Given the description of an element on the screen output the (x, y) to click on. 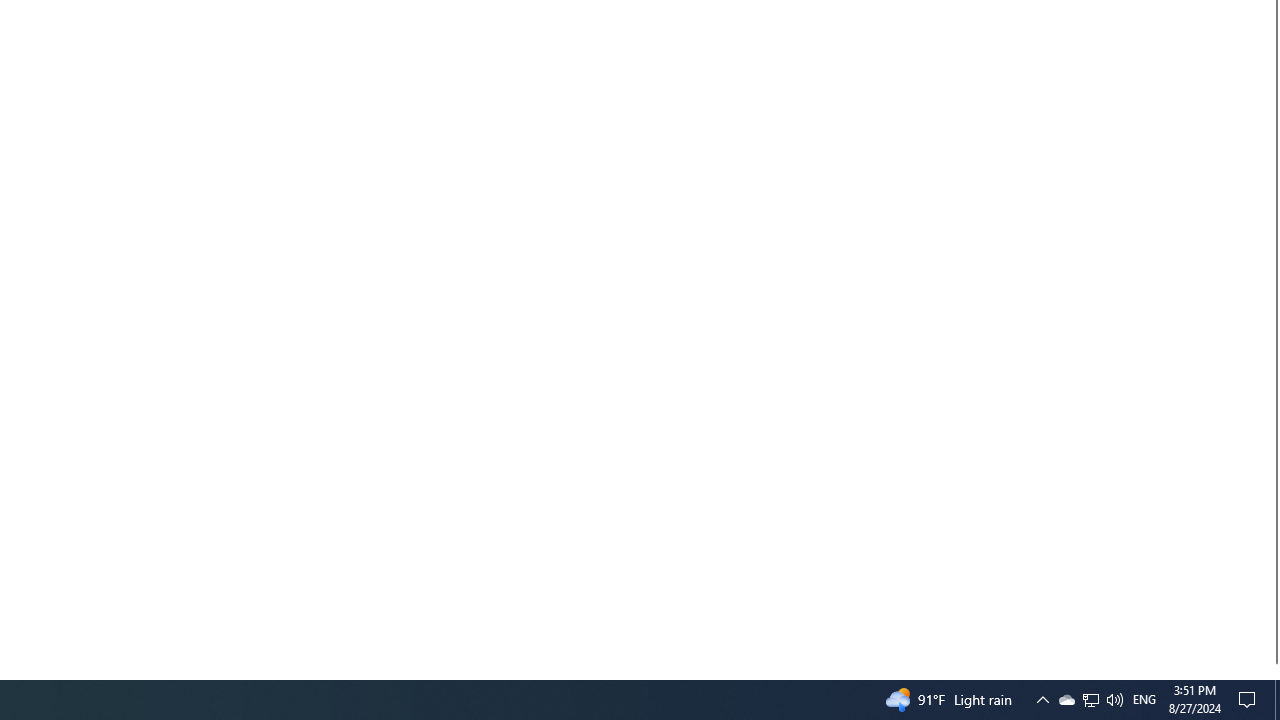
Vertical Small Increase (1272, 671)
